Given the description of an element on the screen output the (x, y) to click on. 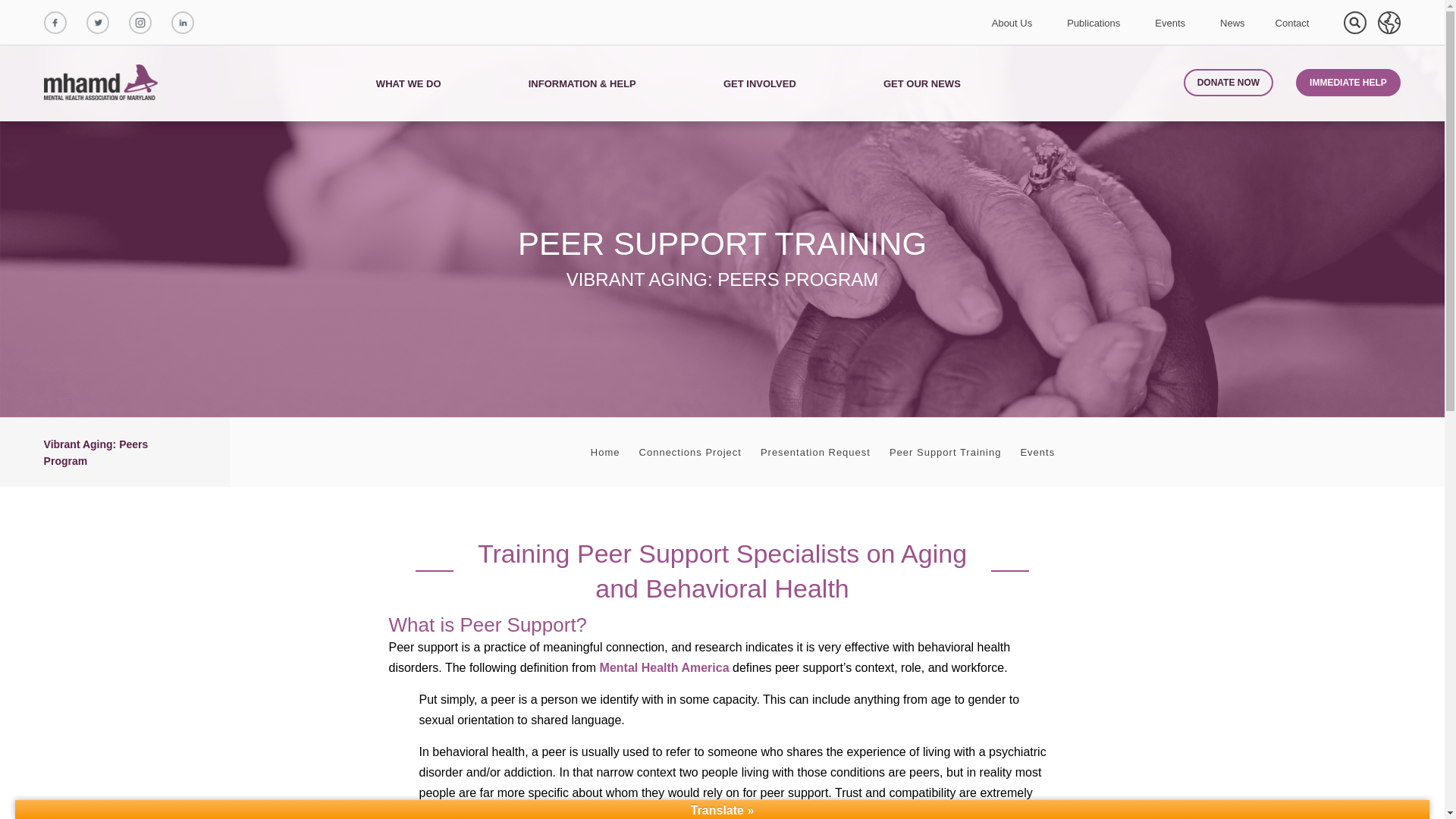
Mental Health Association of Maryland (102, 83)
Publications (1093, 22)
